Given the description of an element on the screen output the (x, y) to click on. 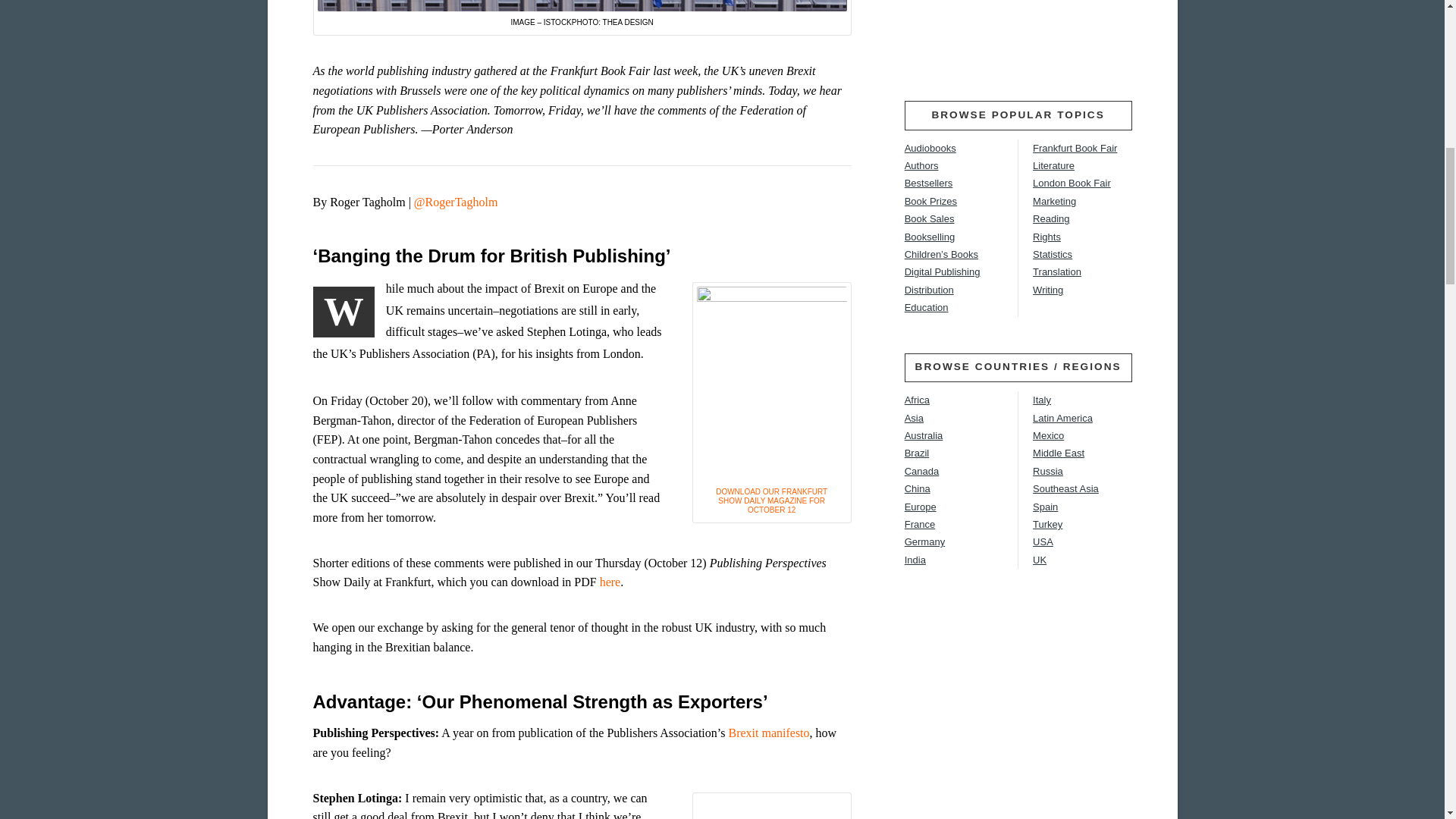
DOWNLOAD OUR FRANKFURT SHOW DAILY MAGAZINE FOR OCTOBER 12 (771, 500)
Brexit manifesto (768, 732)
here (610, 581)
